Given the description of an element on the screen output the (x, y) to click on. 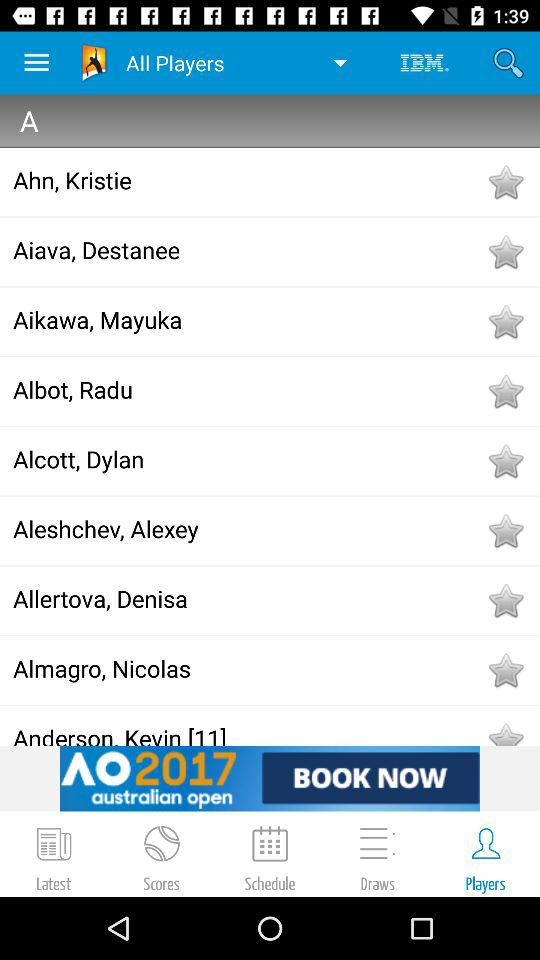
open advertisement (270, 778)
